Given the description of an element on the screen output the (x, y) to click on. 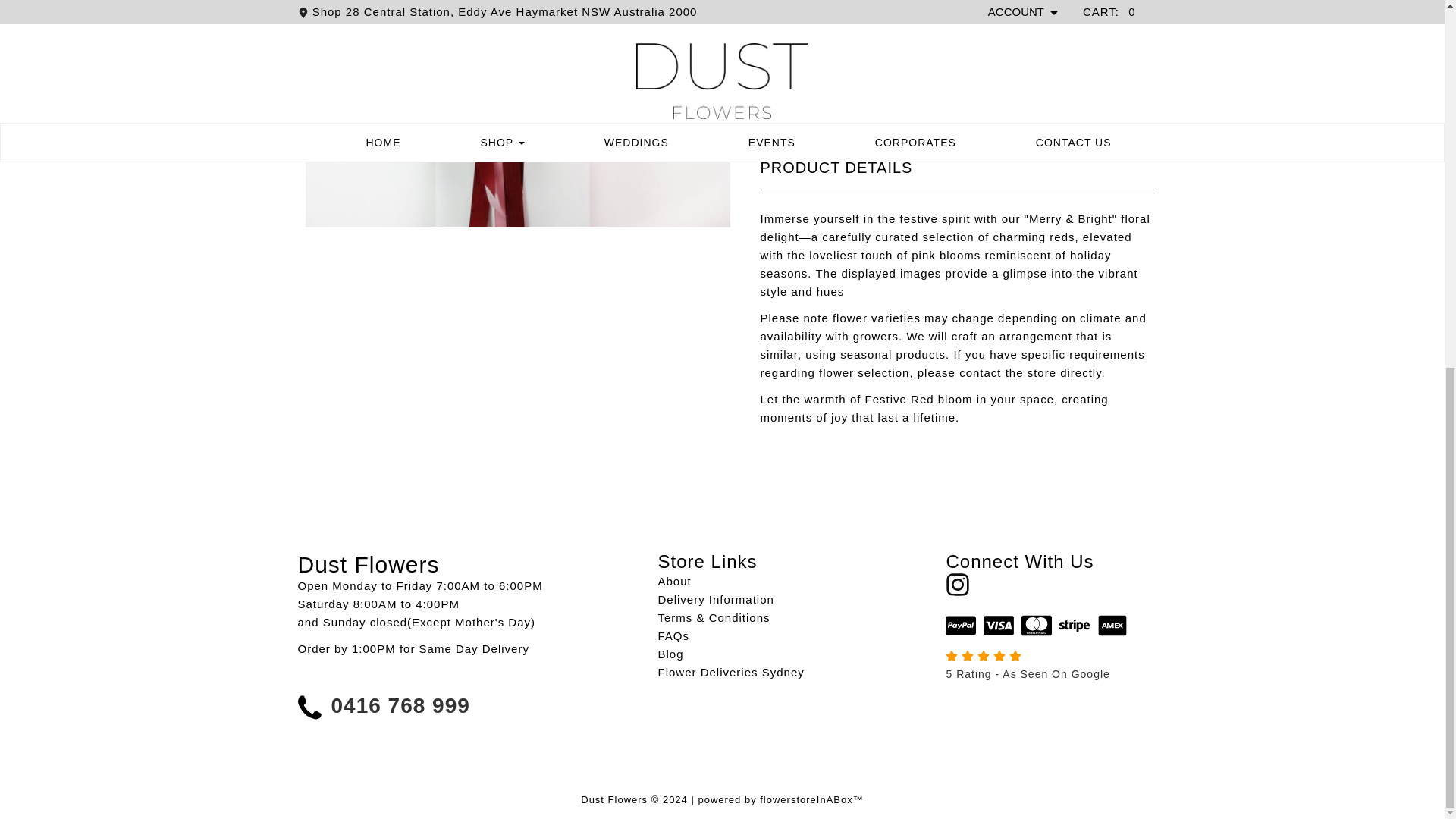
5 Rating - As Seen On Google (1045, 666)
FAQs (674, 635)
About (674, 581)
Delivery Information (716, 599)
phone 0416 768 999 (382, 706)
Blog (671, 653)
Created with Sketch. (959, 625)
phone (313, 707)
95.00 (1099, 112)
Flower Deliveries Sydney (731, 671)
